Given the description of an element on the screen output the (x, y) to click on. 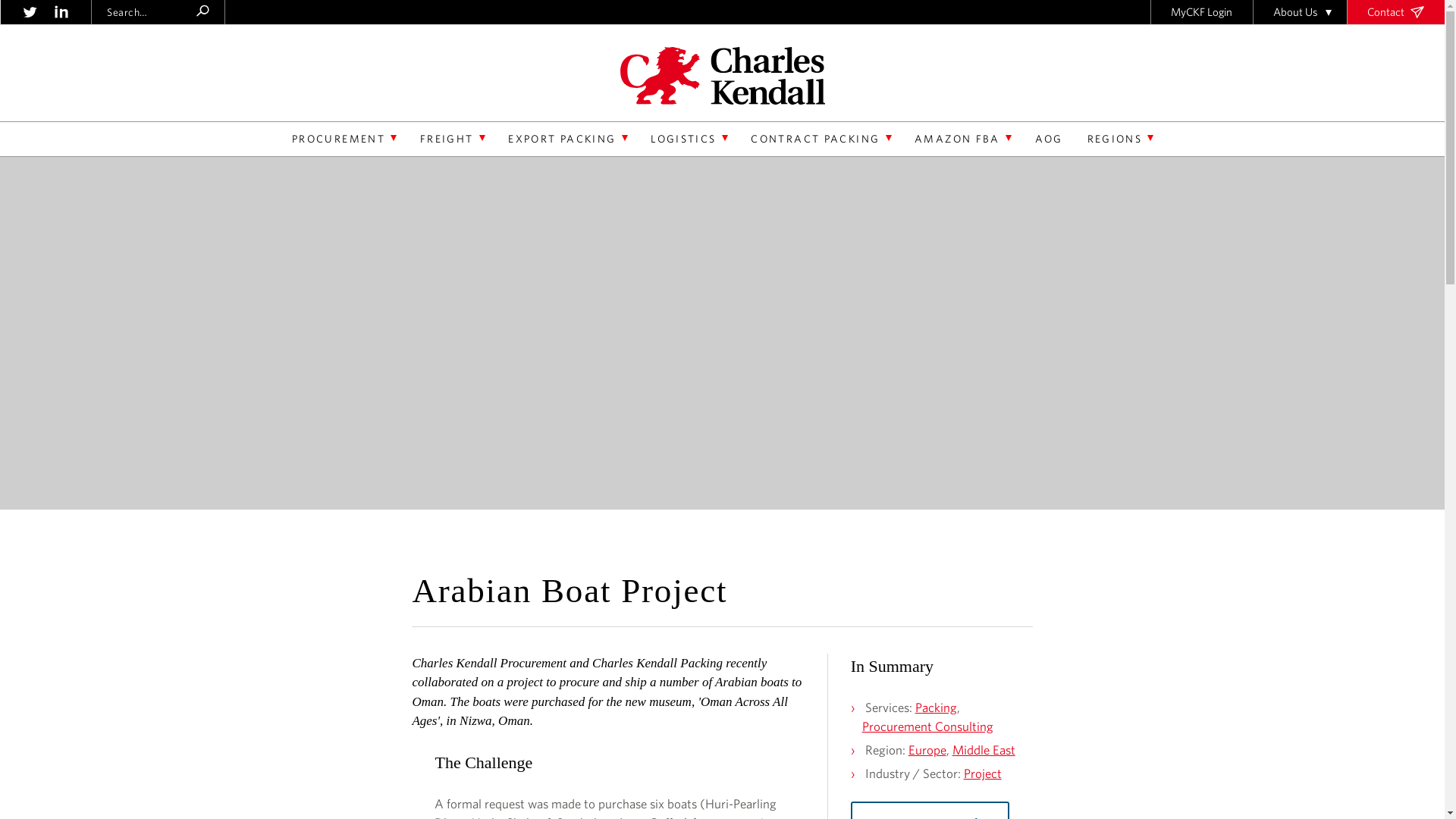
FREIGHT (451, 142)
About Us (1299, 12)
MyCKF Login (1201, 12)
EXPORT PACKING (567, 142)
PROCUREMENT (344, 142)
